Given the description of an element on the screen output the (x, y) to click on. 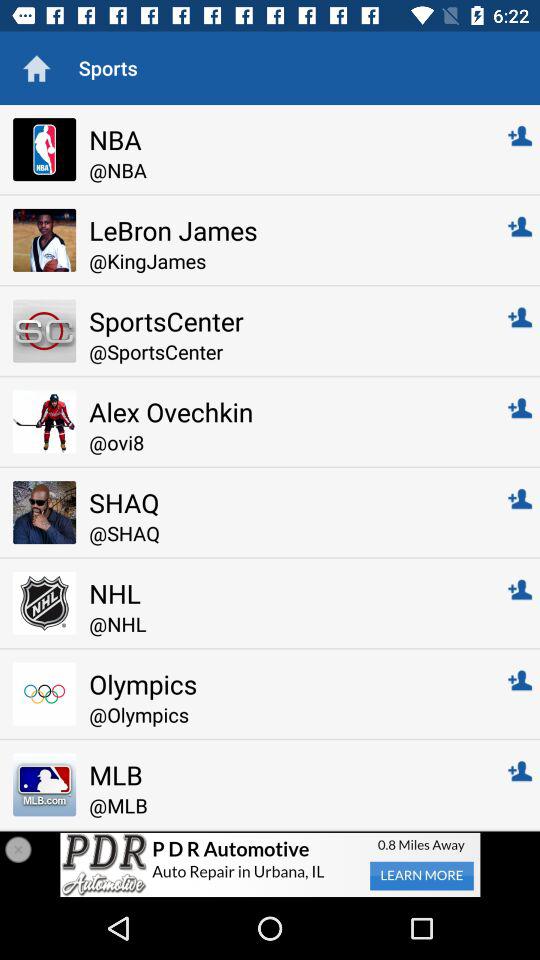
jump to alex ovechkin (284, 411)
